Given the description of an element on the screen output the (x, y) to click on. 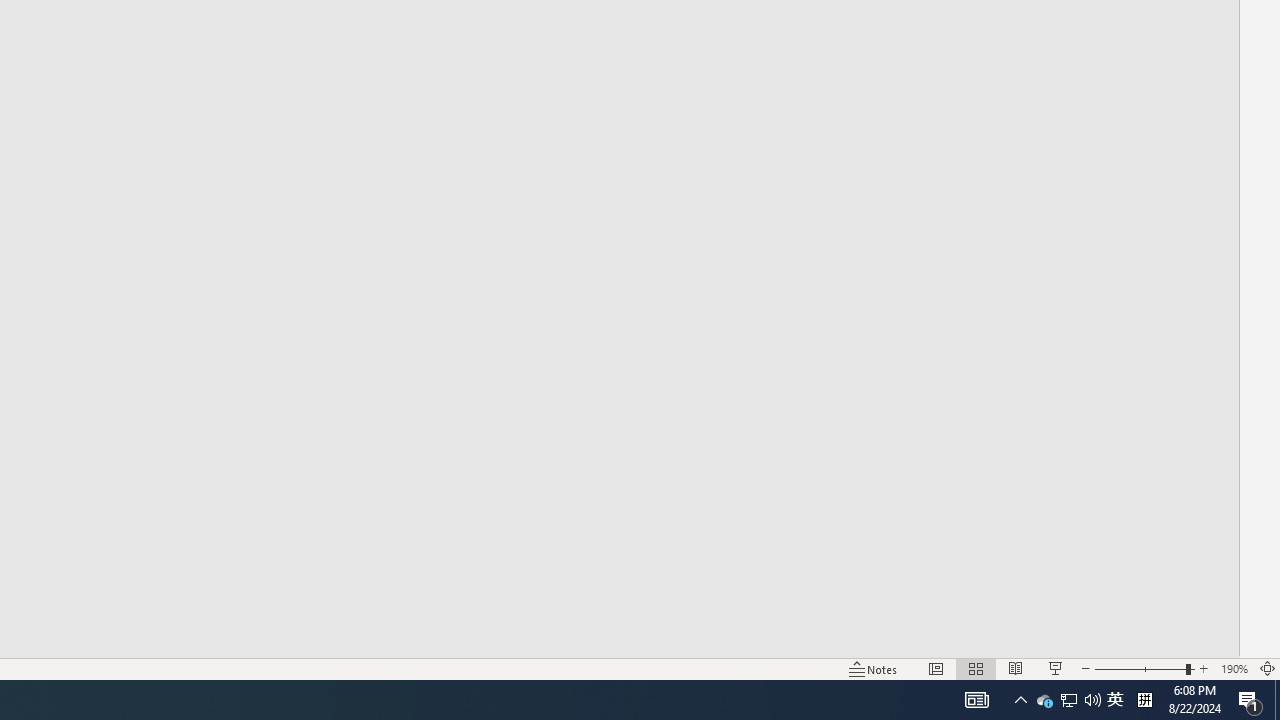
Zoom Out (1140, 668)
Zoom In (1204, 668)
Slide Sorter (975, 668)
Zoom 190% (1234, 668)
Normal (936, 668)
Reading View (1015, 668)
Notes  (874, 668)
Zoom to Fit  (1267, 668)
